Given the description of an element on the screen output the (x, y) to click on. 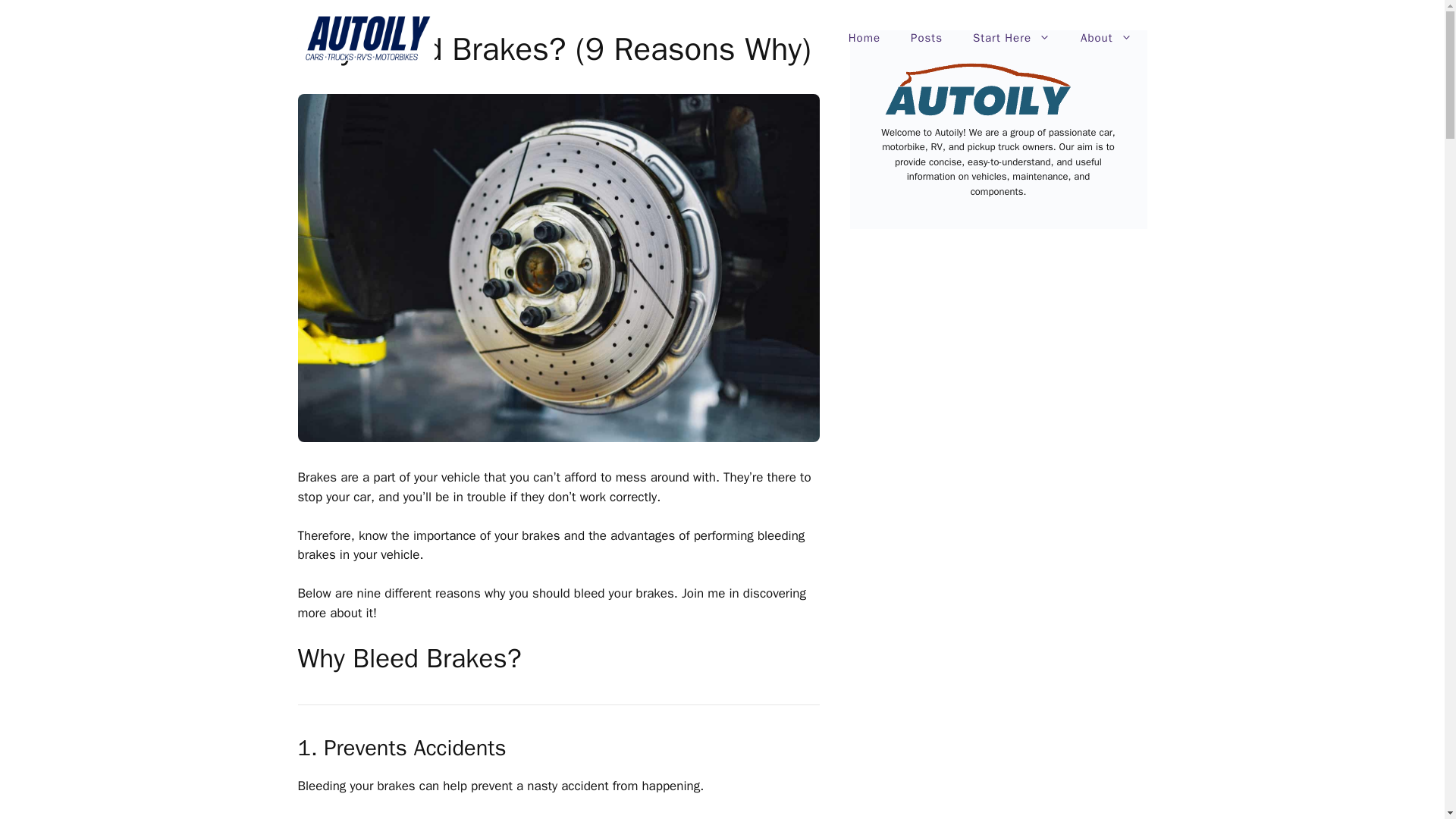
Home (863, 37)
About (1106, 37)
Posts (926, 37)
Start Here (1011, 37)
